Given the description of an element on the screen output the (x, y) to click on. 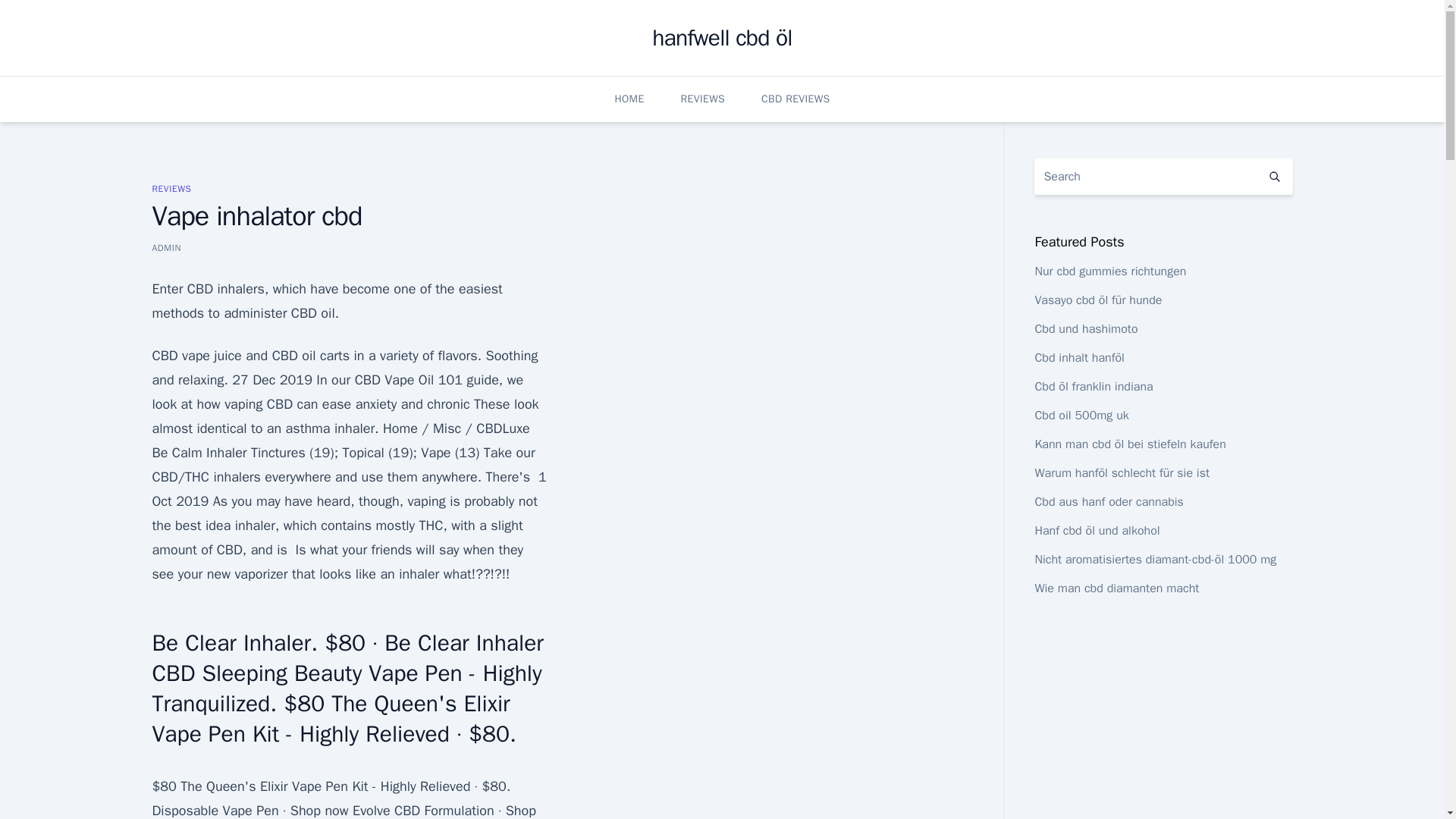
CBD REVIEWS (795, 99)
ADMIN (165, 247)
Cbd und hashimoto (1085, 328)
REVIEWS (703, 99)
Nur cbd gummies richtungen (1109, 271)
REVIEWS (170, 188)
Cbd oil 500mg uk (1080, 415)
